Given the description of an element on the screen output the (x, y) to click on. 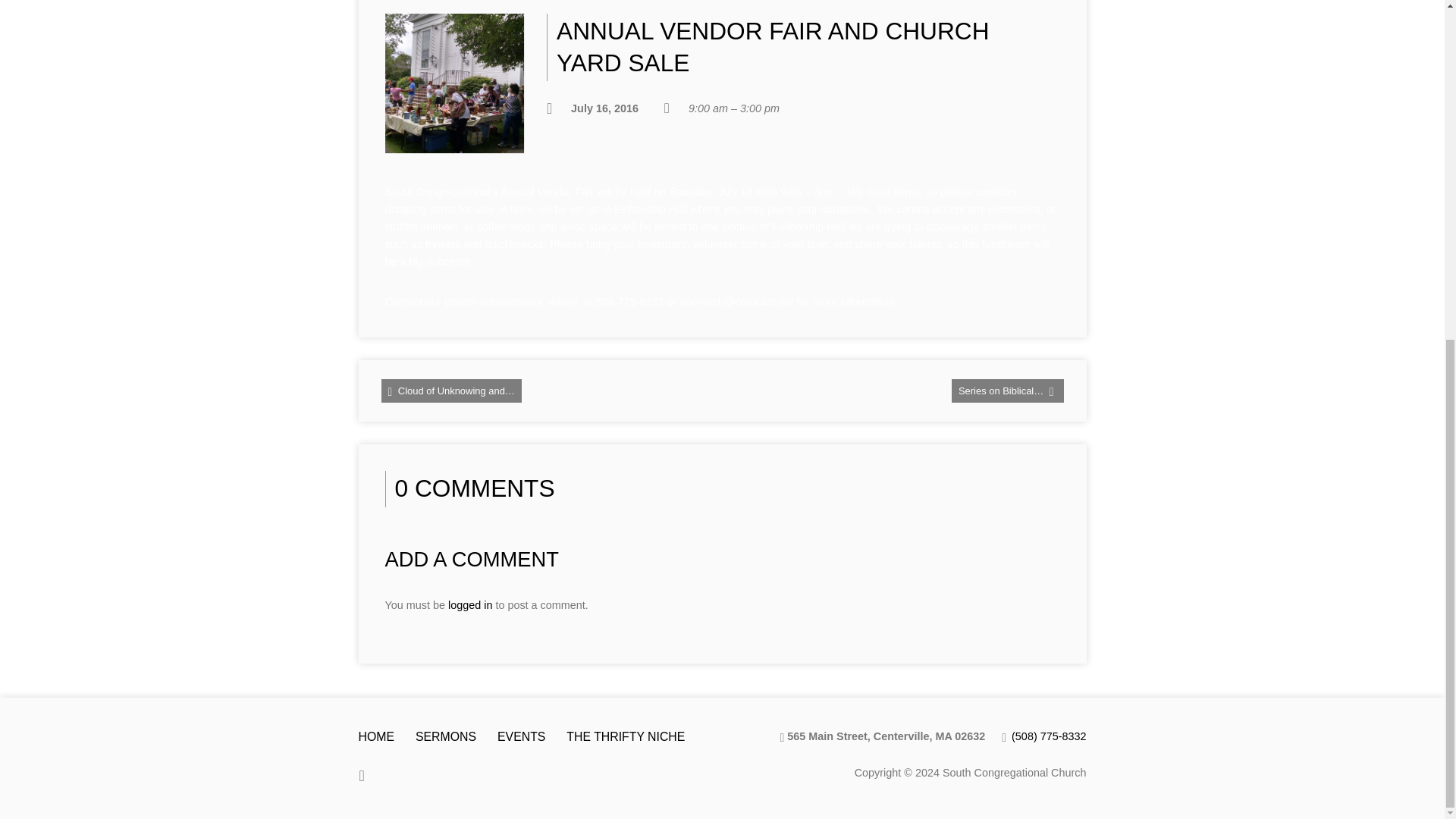
SERMONS (445, 736)
logged in (470, 604)
HOME (376, 736)
EVENTS (520, 736)
